Given the description of an element on the screen output the (x, y) to click on. 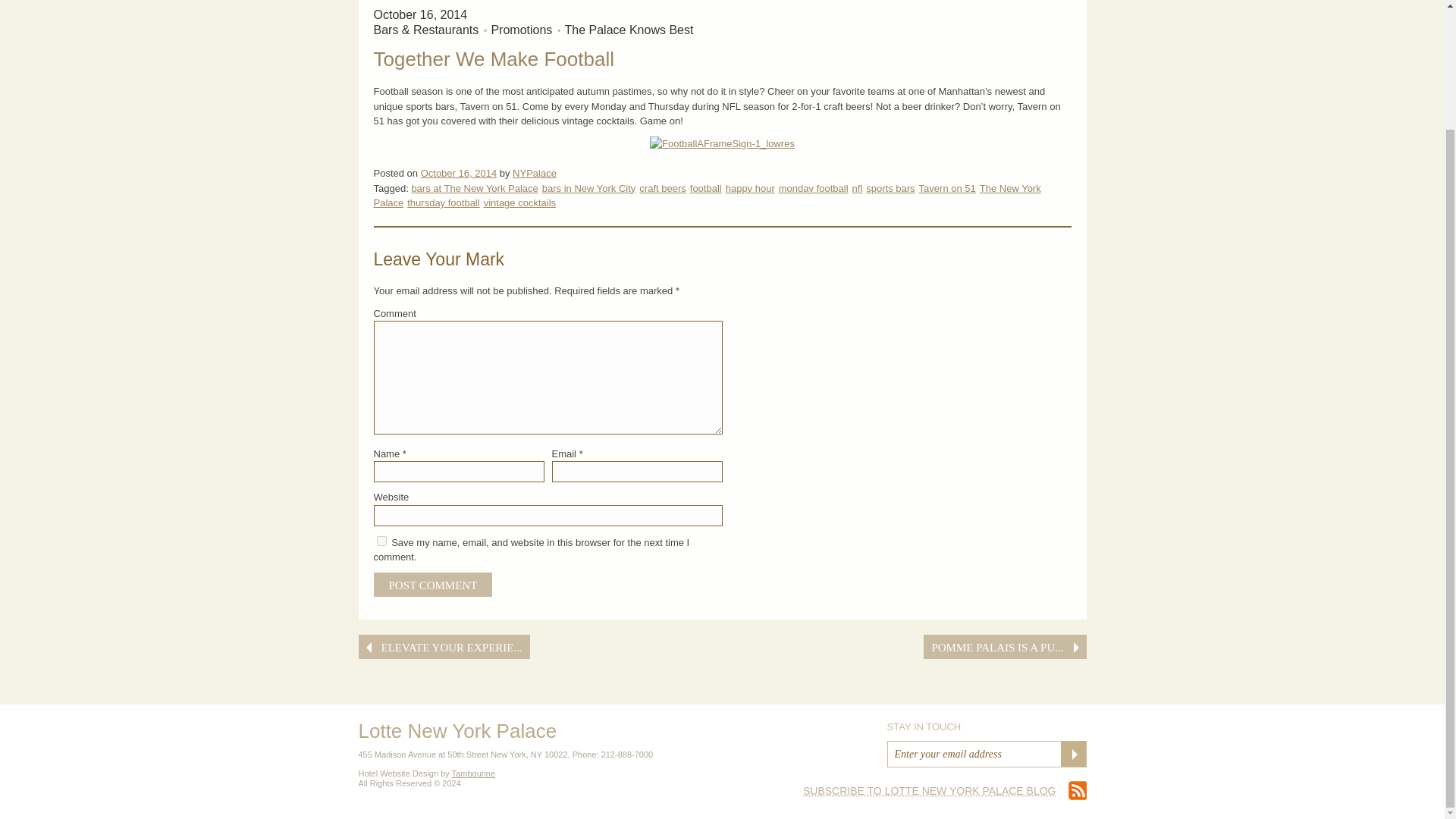
Submit (1071, 753)
11:10 pm (458, 173)
Like (954, 591)
yes (380, 541)
Post Comment (432, 584)
Tweet (1006, 591)
View all posts by NYPalace (534, 173)
Syndicate this site using RSS (944, 789)
Really Simple Syndication (930, 790)
